Given the description of an element on the screen output the (x, y) to click on. 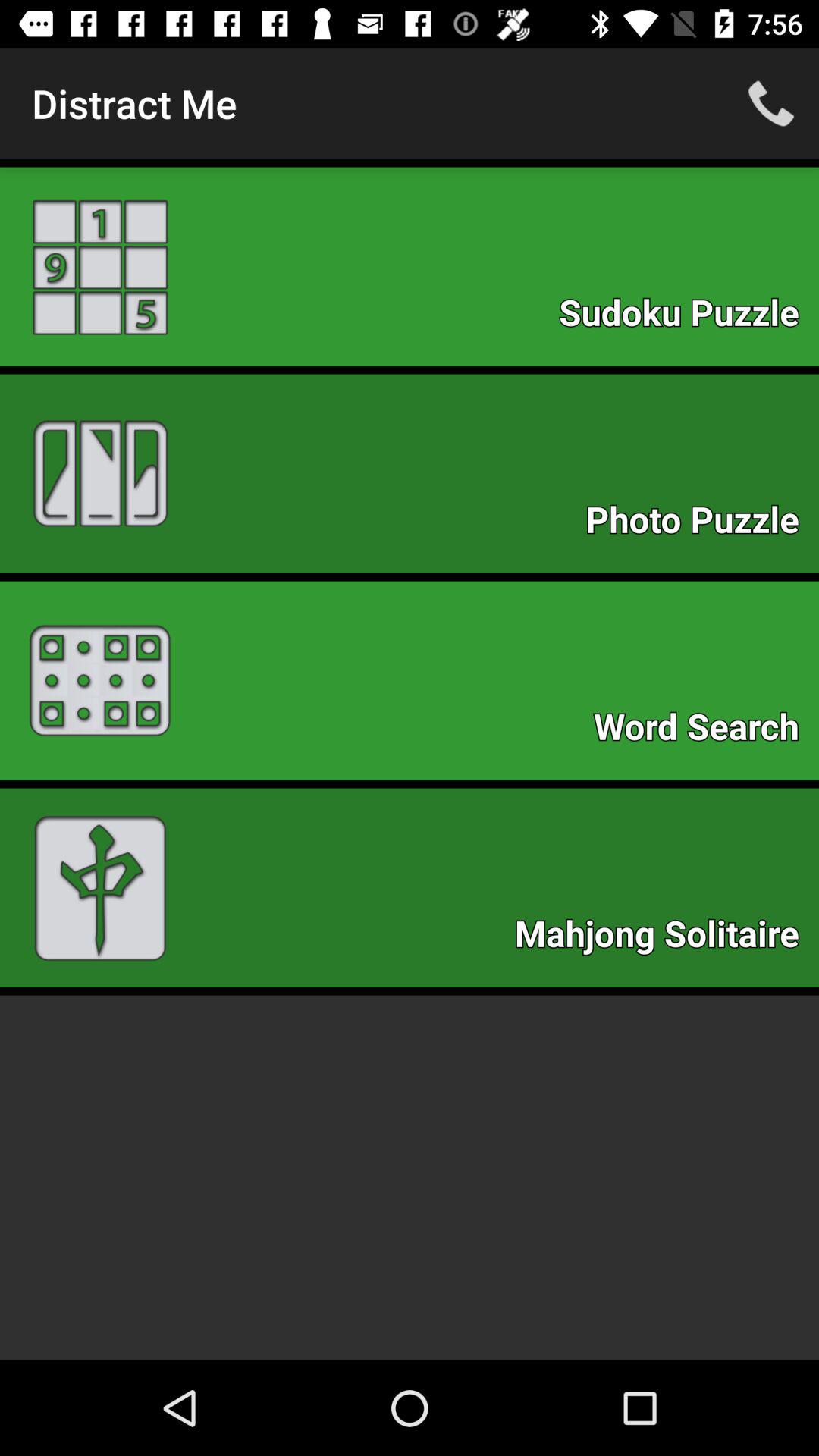
choose icon below the word search item (664, 937)
